Given the description of an element on the screen output the (x, y) to click on. 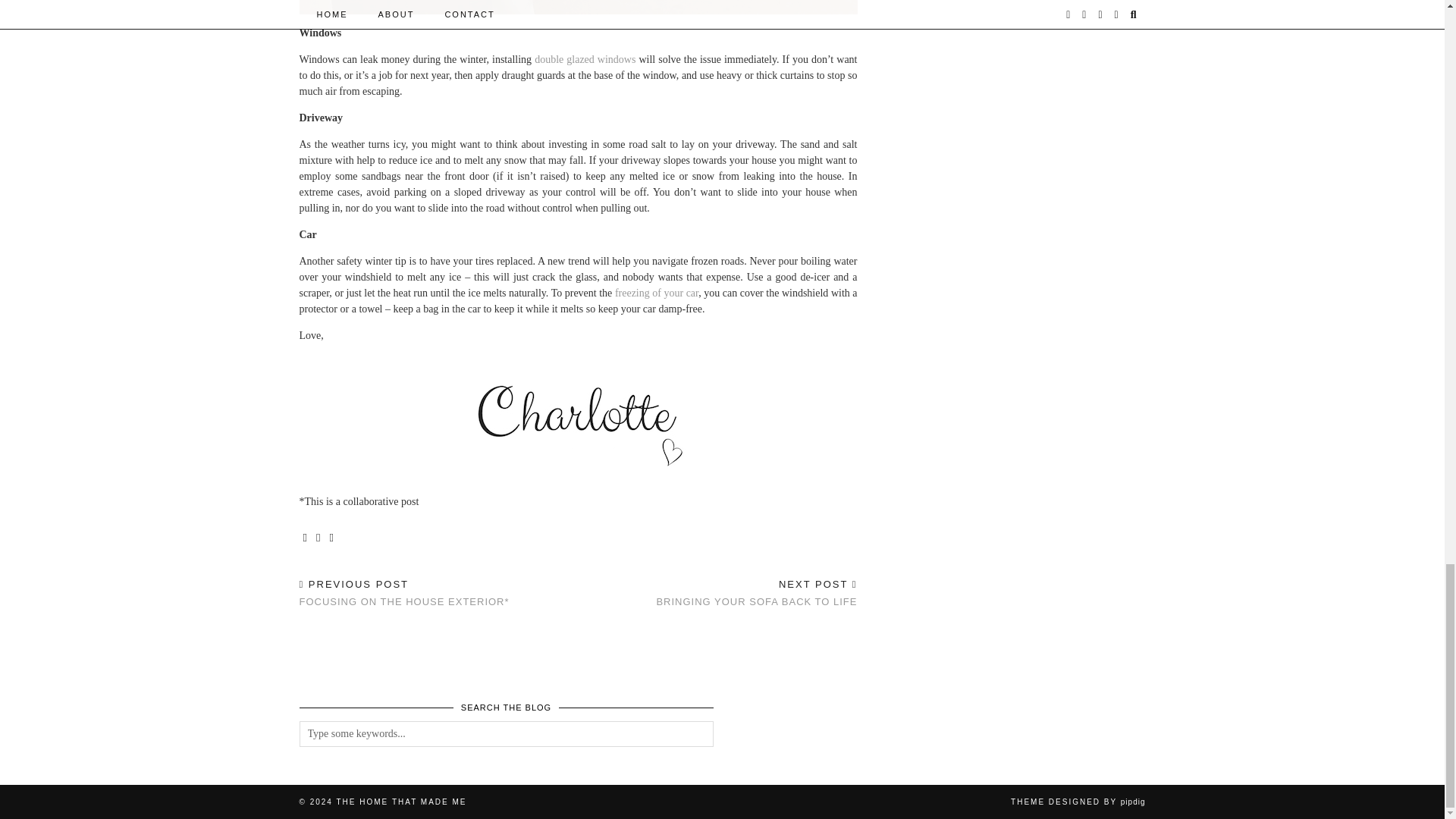
freezing of your car (656, 292)
Share on Facebook (304, 538)
double glazed windows (756, 593)
